Given the description of an element on the screen output the (x, y) to click on. 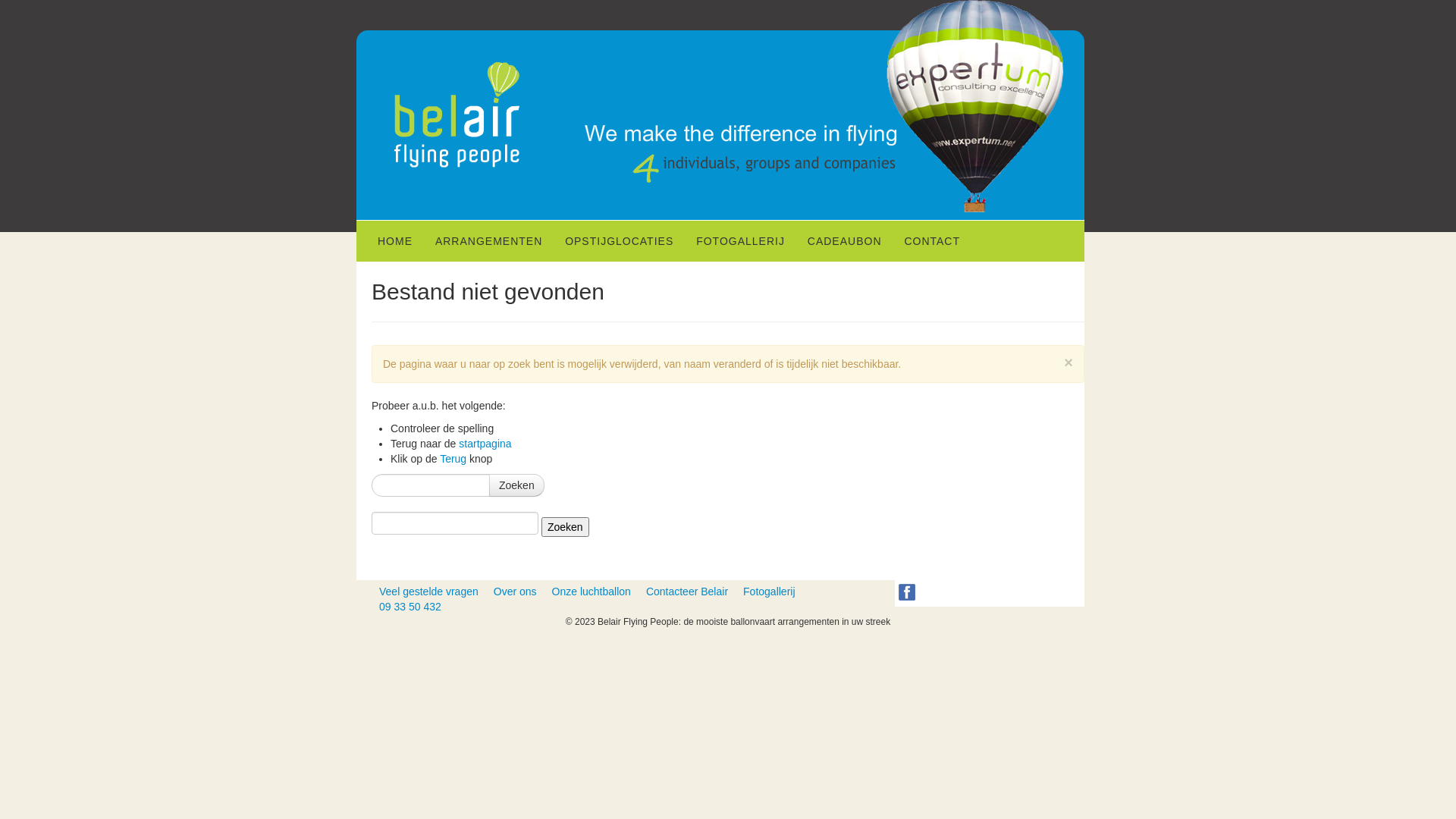
Ballonvaart Belair Flying People Element type: text (456, 119)
Over ons Element type: text (515, 591)
09 33 50 432 Element type: text (409, 606)
Zoeken Element type: text (516, 484)
Zoeken Element type: text (565, 526)
ARRANGEMENTEN Element type: text (488, 240)
CADEAUBON Element type: text (844, 240)
CONTACT Element type: text (931, 240)
Contacteer Belair Element type: text (686, 591)
Fotogallerij Element type: text (768, 591)
FOTOGALLERIJ Element type: text (740, 240)
HOME Element type: text (394, 240)
Terug Element type: text (452, 458)
Onze luchtballon Element type: text (591, 591)
OPSTIJGLOCATIES Element type: text (619, 240)
startpagina Element type: text (484, 443)
Veel gestelde vragen Element type: text (428, 591)
Facebook Element type: text (907, 592)
